Given the description of an element on the screen output the (x, y) to click on. 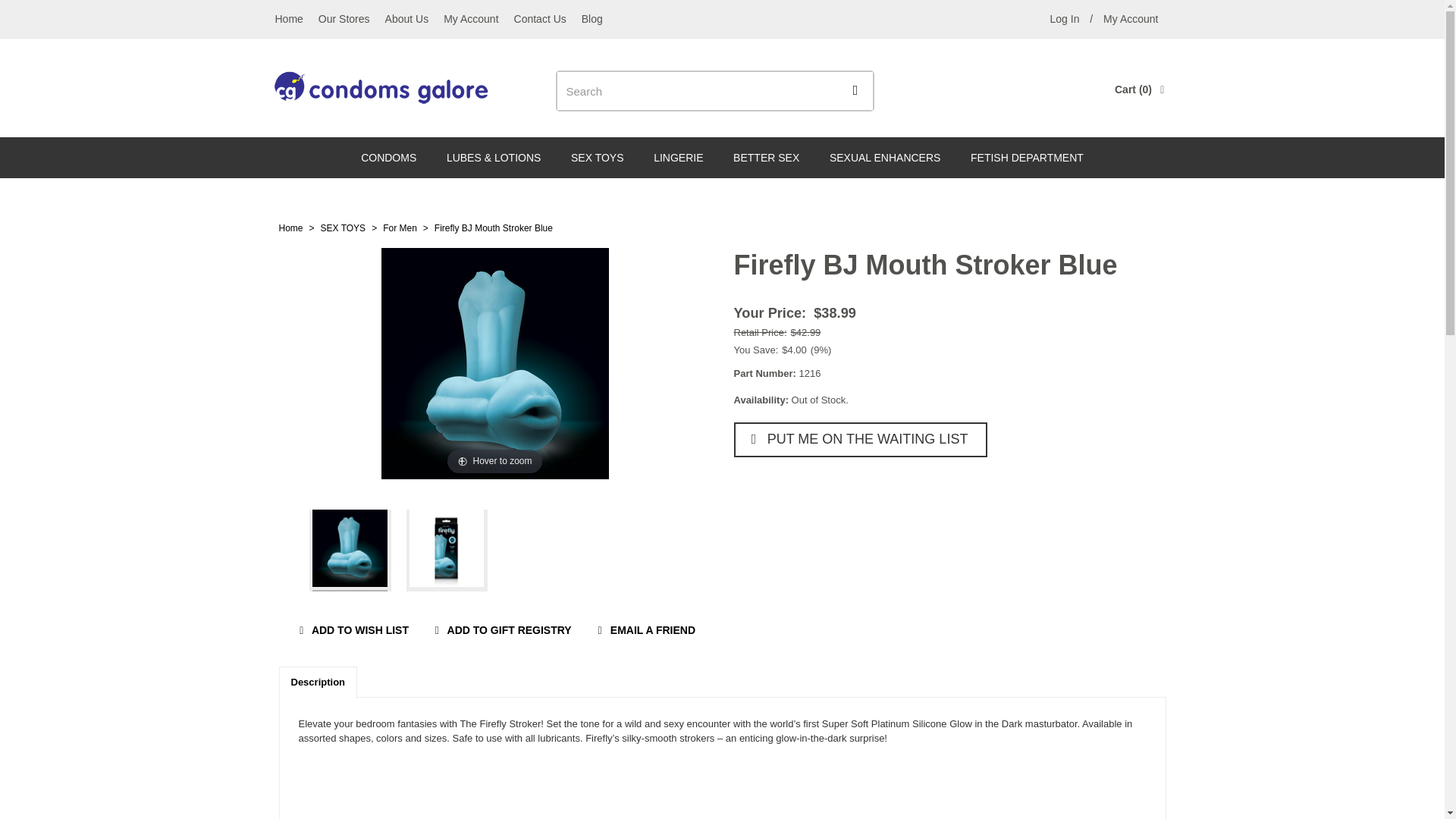
Thumbnail (446, 550)
SEX TOYS (343, 227)
SEX TOYS (1131, 18)
Firefly BJ Mouth Stroker Blue (597, 157)
About Us (493, 227)
CONDOMS (406, 18)
SEXUAL ENHANCERS (388, 157)
LINGERIE (885, 157)
Contact Us (1064, 18)
Home (678, 157)
BETTER SEX (539, 18)
Thumbnail (290, 227)
